Given the description of an element on the screen output the (x, y) to click on. 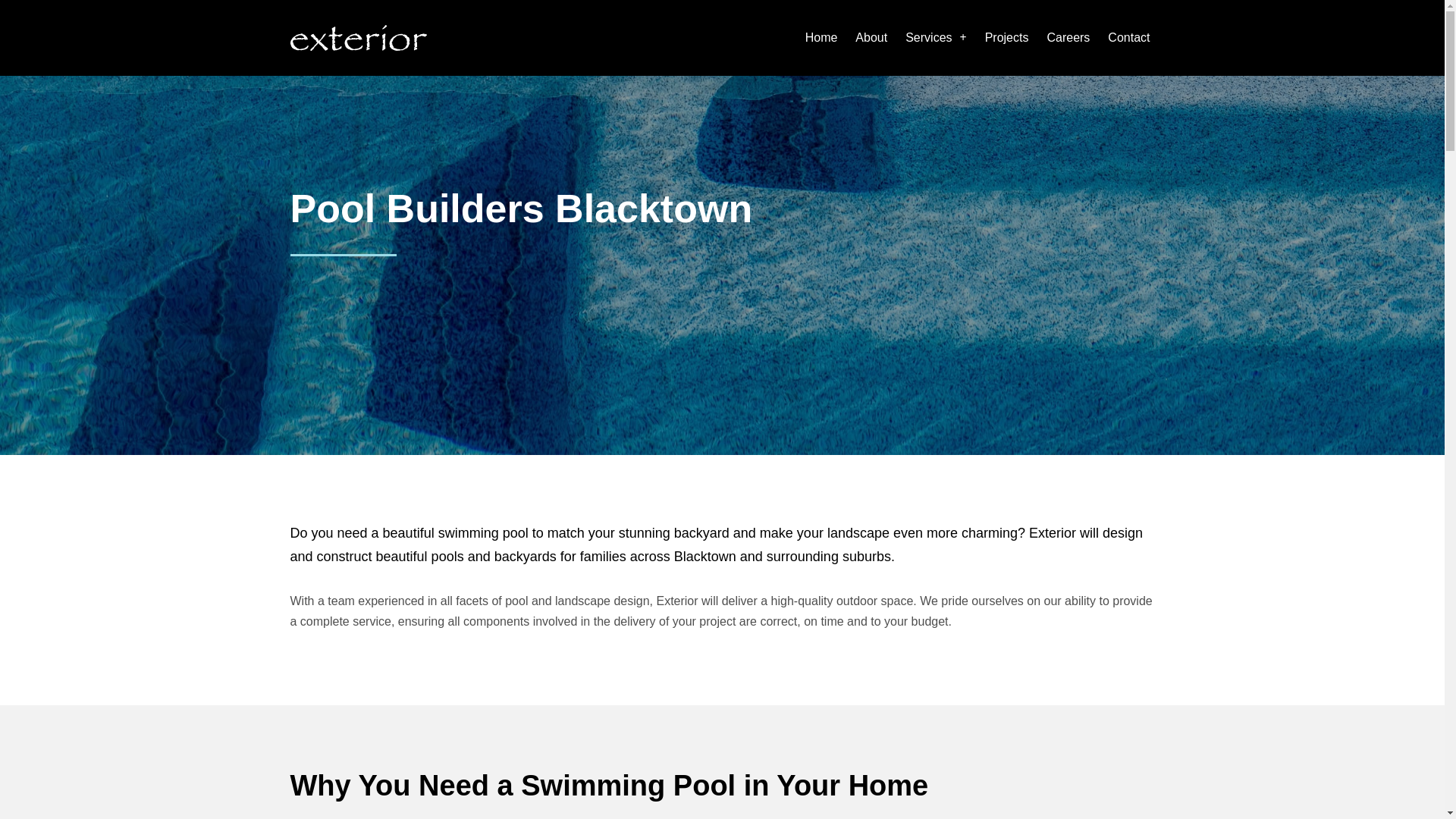
Projects (1006, 5)
Careers (1068, 7)
Contact (808, 37)
